Given the description of an element on the screen output the (x, y) to click on. 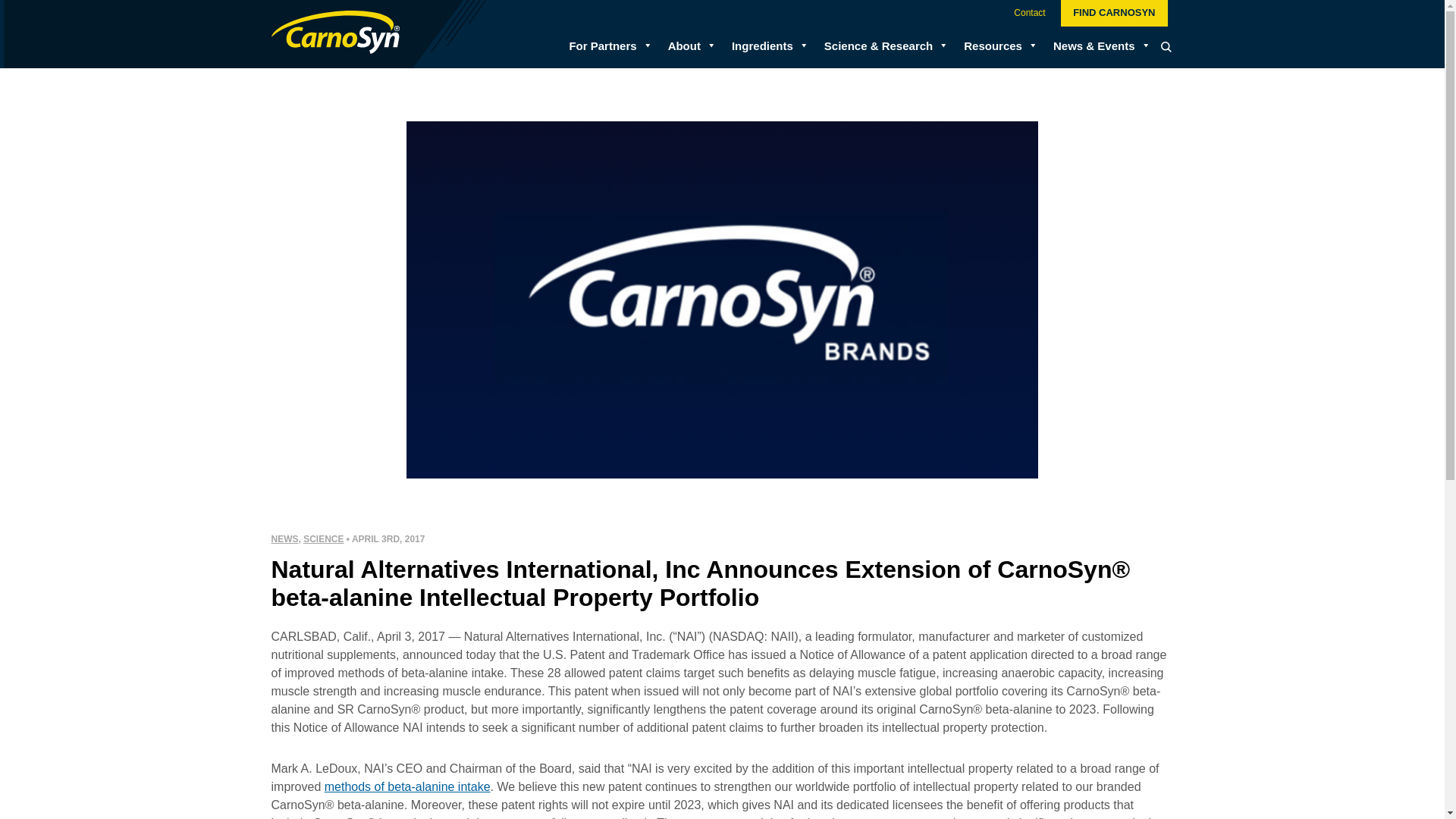
Resources (993, 47)
For Partners (602, 47)
Contact (1029, 13)
FIND CARNOSYN (1114, 13)
Ingredients (762, 47)
About (684, 47)
FIND CARNOSYN (1114, 13)
Contact (1029, 13)
